Given the description of an element on the screen output the (x, y) to click on. 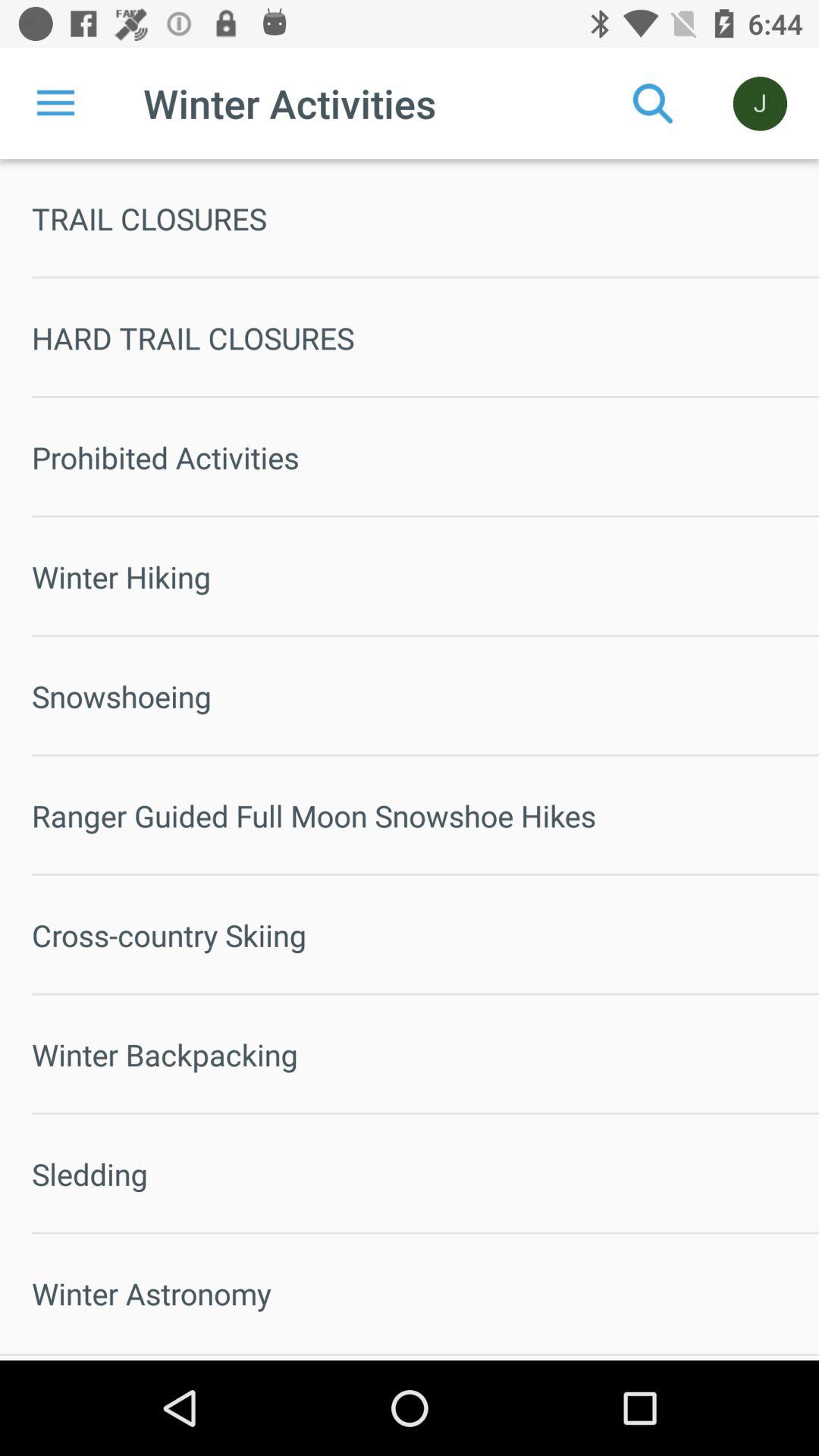
open the sledding item (425, 1173)
